Given the description of an element on the screen output the (x, y) to click on. 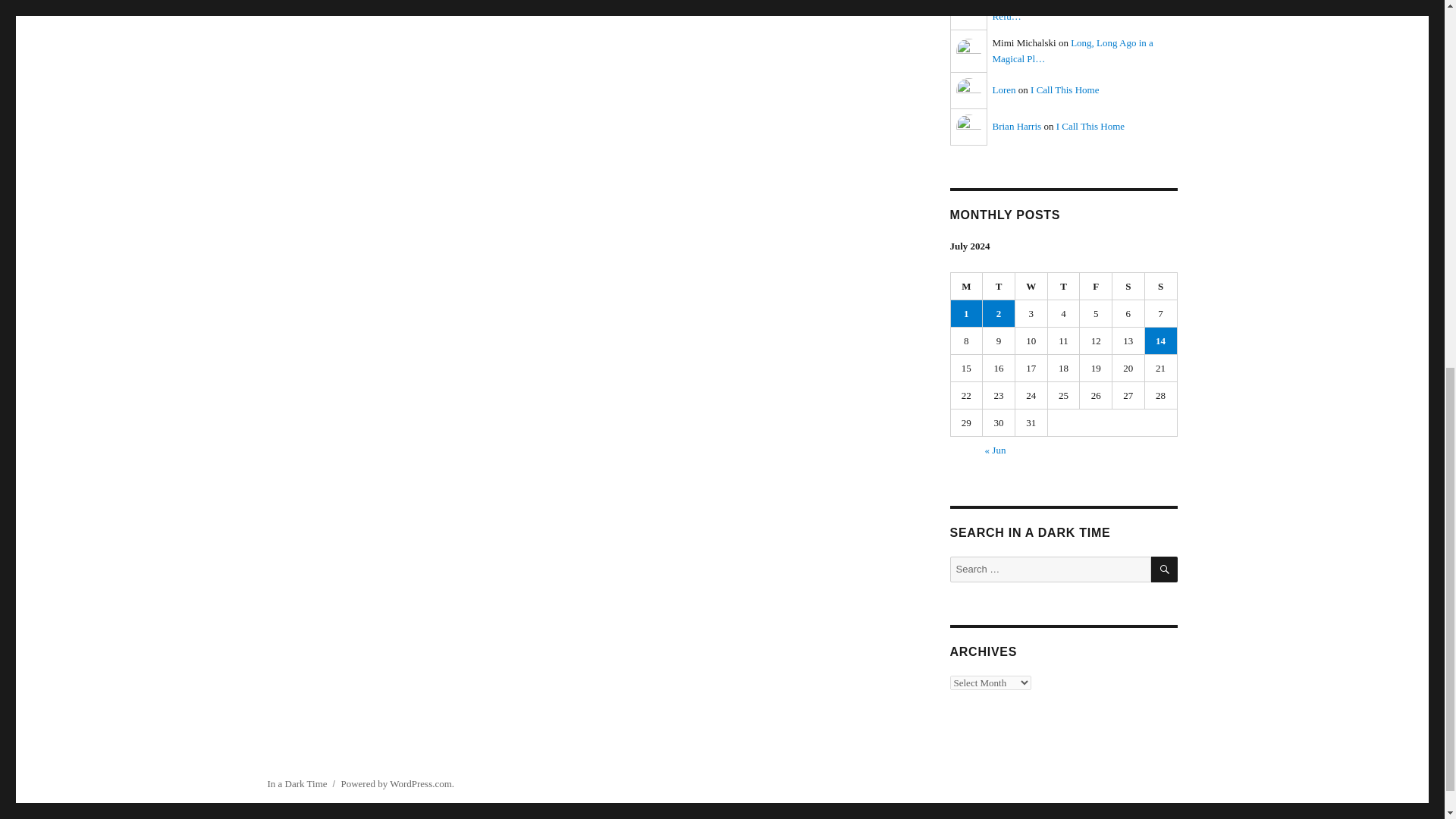
SEARCH (1164, 569)
Powered by WordPress.com (395, 783)
Brian Harris (968, 126)
Loren (968, 90)
In a Dark Time (296, 783)
Friday (1096, 286)
I Call This Home (1064, 89)
Saturday (1128, 286)
Bethany Reid (968, 15)
Brian Harris (1016, 125)
Wednesday (1031, 286)
Monday (967, 286)
Loren (1002, 89)
Bethany Reid (1018, 2)
1 (966, 313)
